Given the description of an element on the screen output the (x, y) to click on. 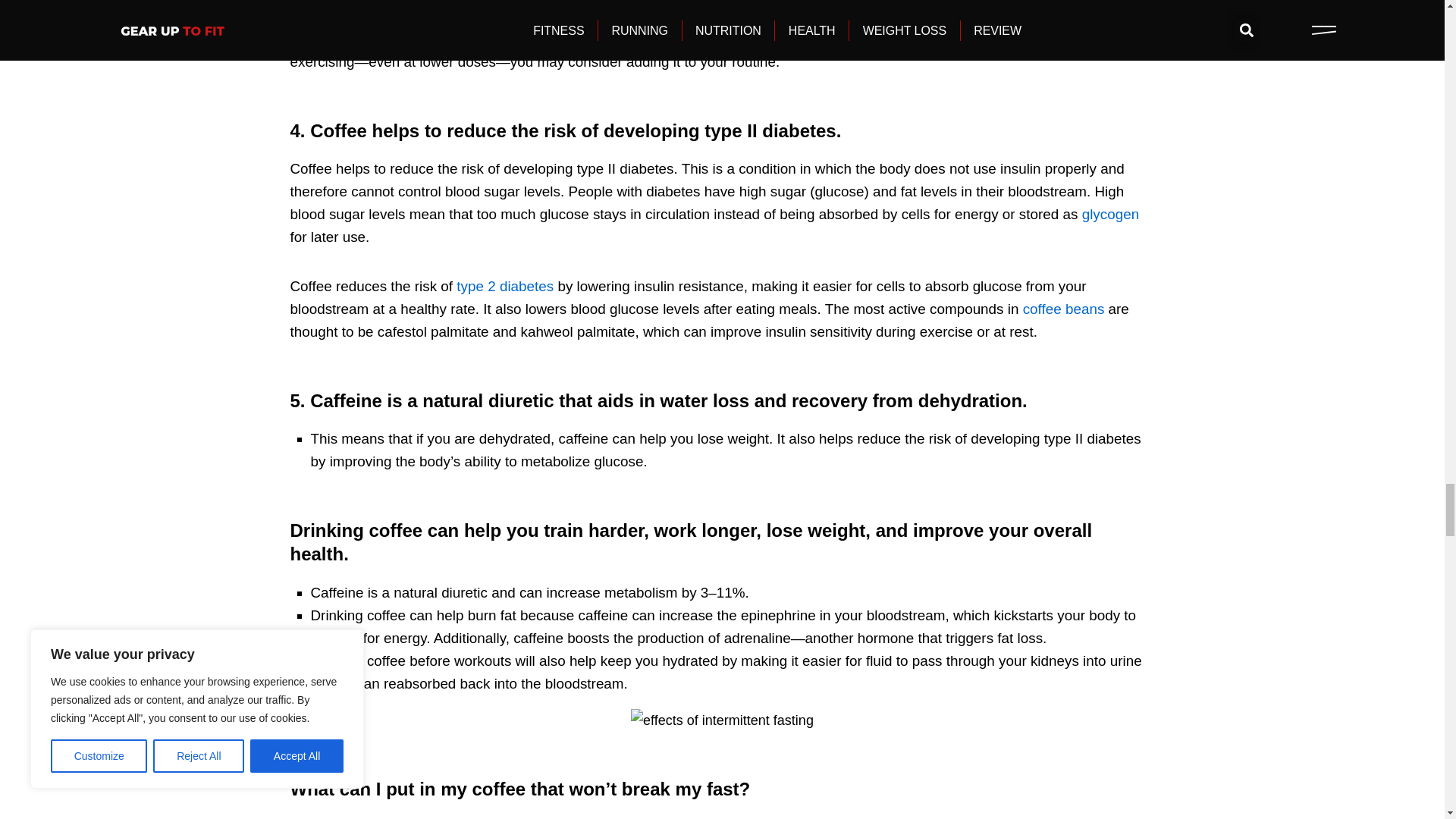
glycogen (1110, 213)
type 2 diabetes (505, 286)
